Given the description of an element on the screen output the (x, y) to click on. 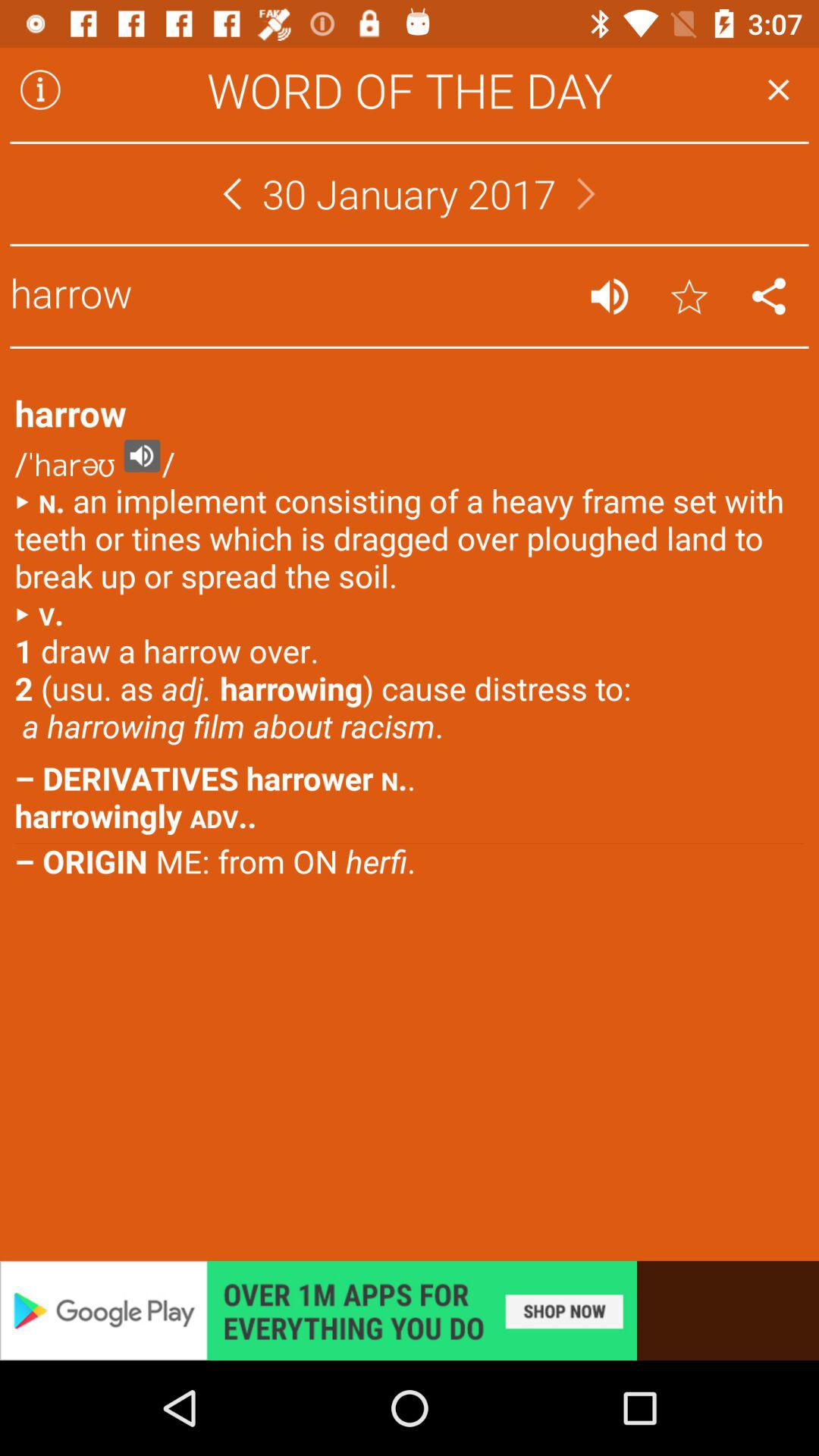
information about the app (40, 89)
